Given the description of an element on the screen output the (x, y) to click on. 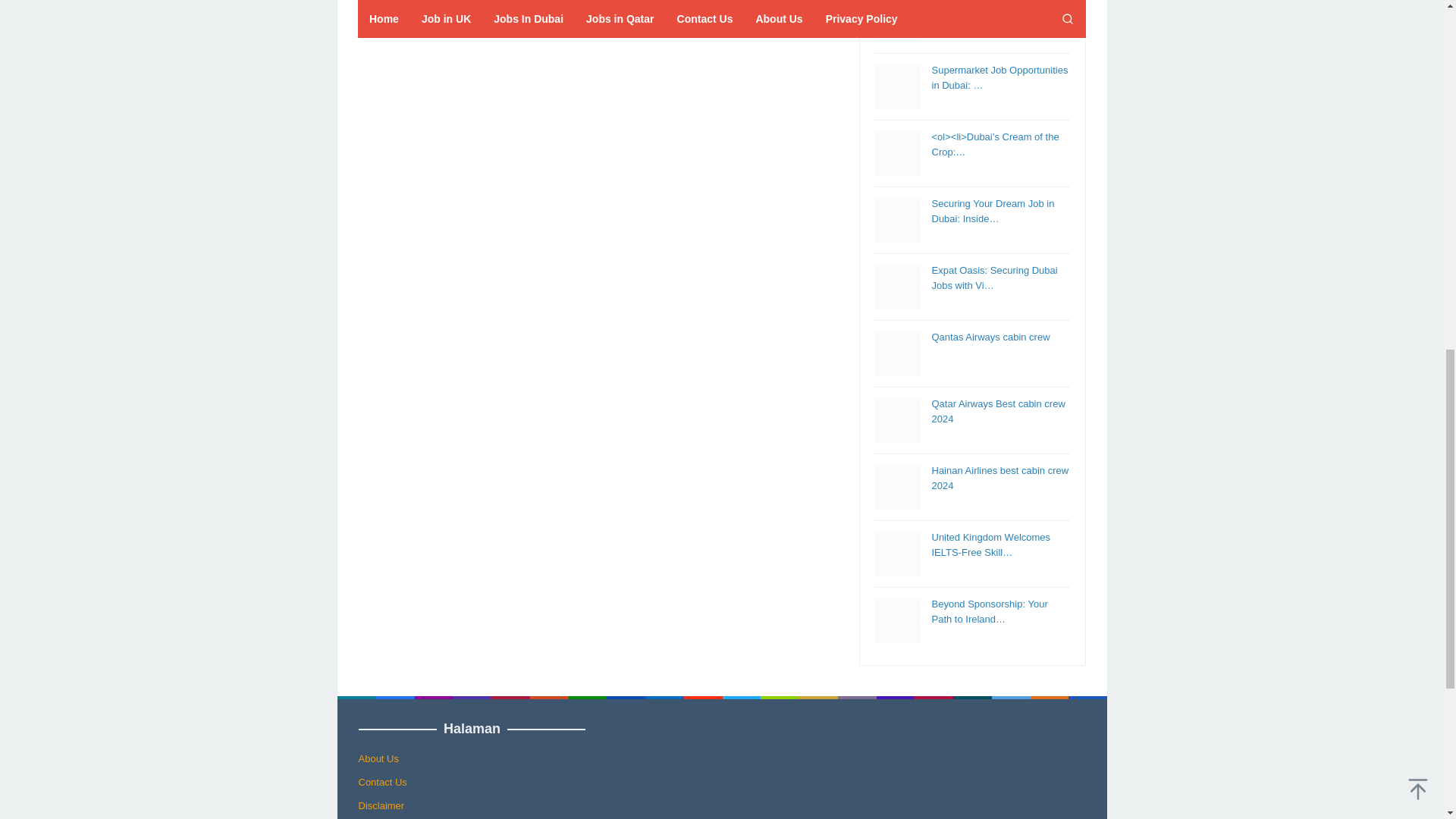
qantas-airways-cabin-crew.jpg (897, 352)
Qantas Airways cabin crew (990, 337)
Permalink to: Qantas Airways cabin crew (990, 337)
Permalink to: Qatar Airways Best cabin crew 2024 (997, 411)
Disclaimer (381, 805)
About Us (377, 758)
